Given the description of an element on the screen output the (x, y) to click on. 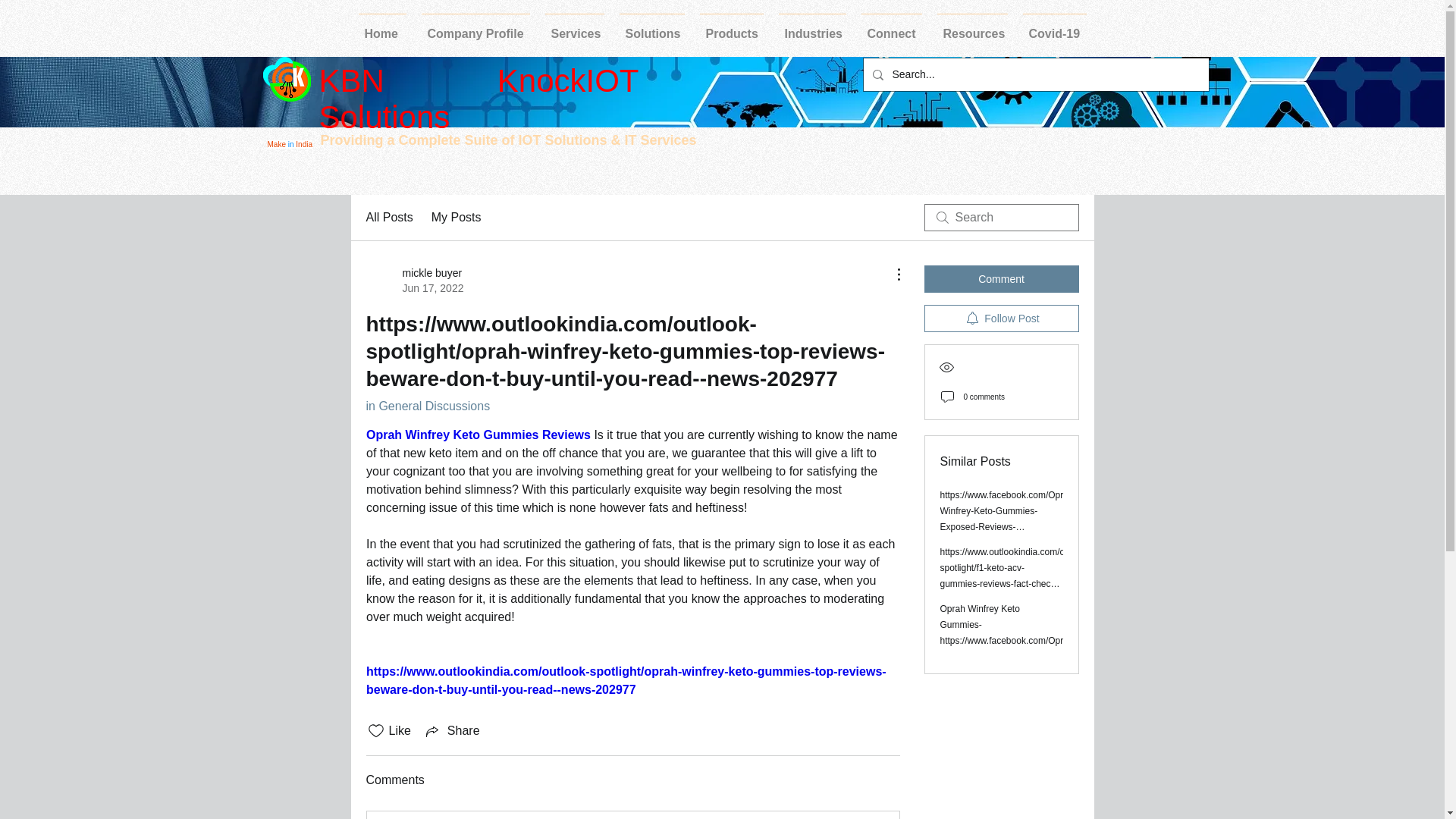
Resources (972, 26)
Home (381, 26)
Industries (811, 26)
Connect (891, 26)
My Posts (455, 217)
Solutions (651, 26)
Covid-19 (414, 280)
Services (1053, 26)
All Posts (574, 26)
Products (388, 217)
Company Profile (730, 26)
